Given the description of an element on the screen output the (x, y) to click on. 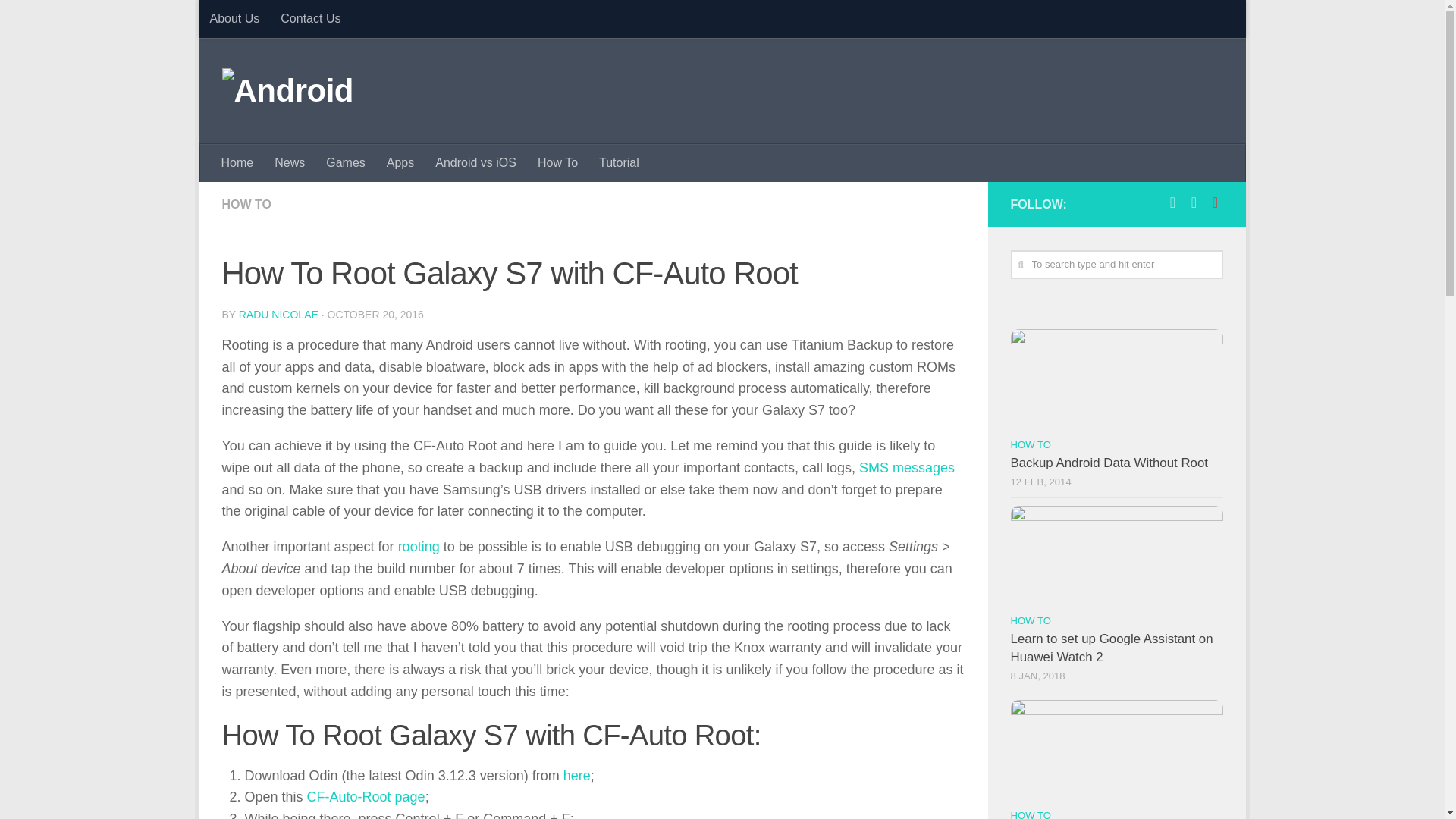
HOW TO (245, 204)
Games (345, 162)
Apps (400, 162)
About Us (233, 18)
Contact Us (309, 18)
Home (237, 162)
SMS messages (907, 467)
Follow us on Email-o (1215, 201)
Tutorial (618, 162)
How To (557, 162)
